Given the description of an element on the screen output the (x, y) to click on. 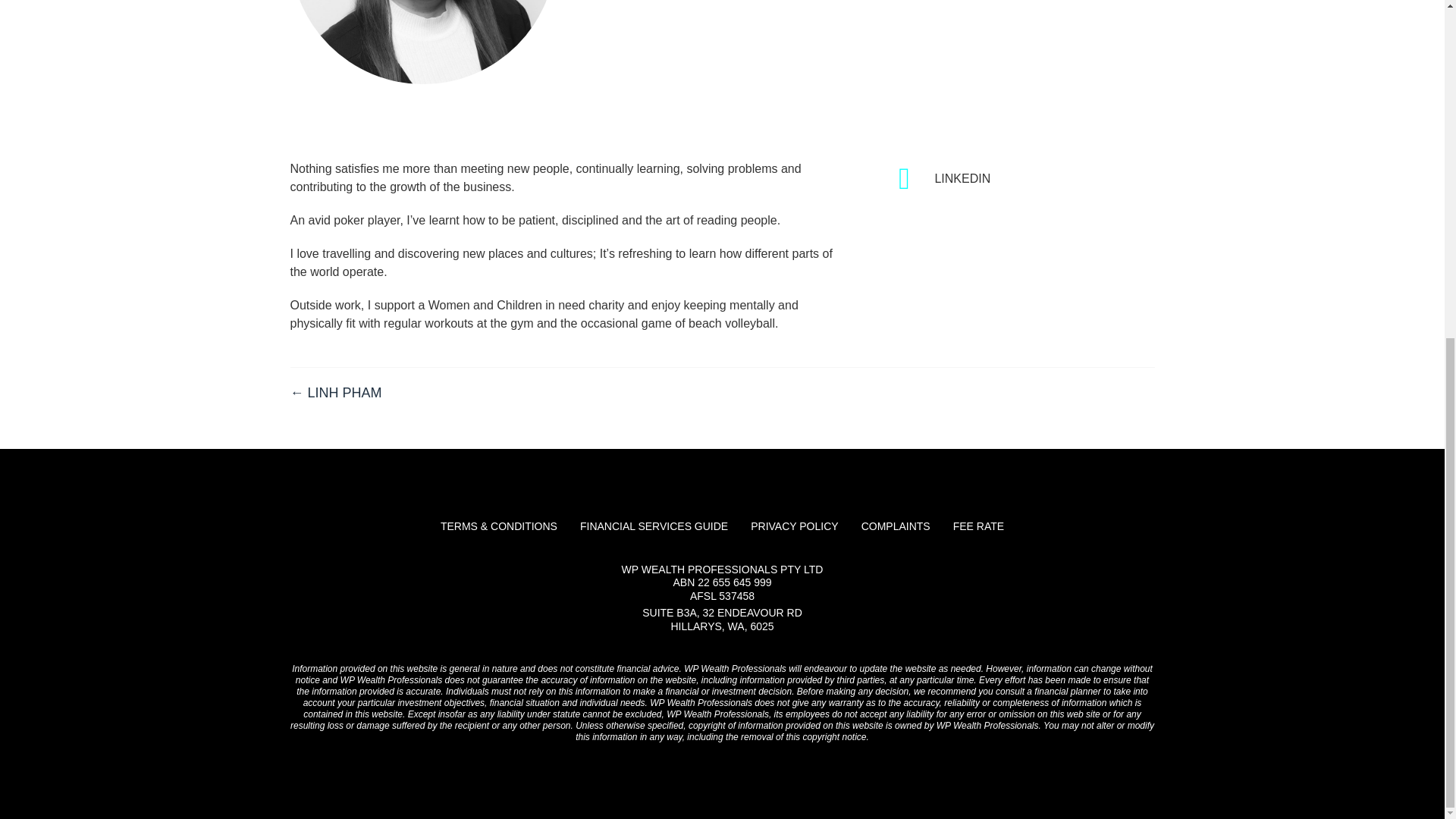
WP Tiffany 250822-9 (421, 42)
COMPLAINTS (896, 525)
PRIVACY POLICY (793, 525)
FEE RATE (978, 525)
FINANCIAL SERVICES GUIDE (654, 525)
